Given the description of an element on the screen output the (x, y) to click on. 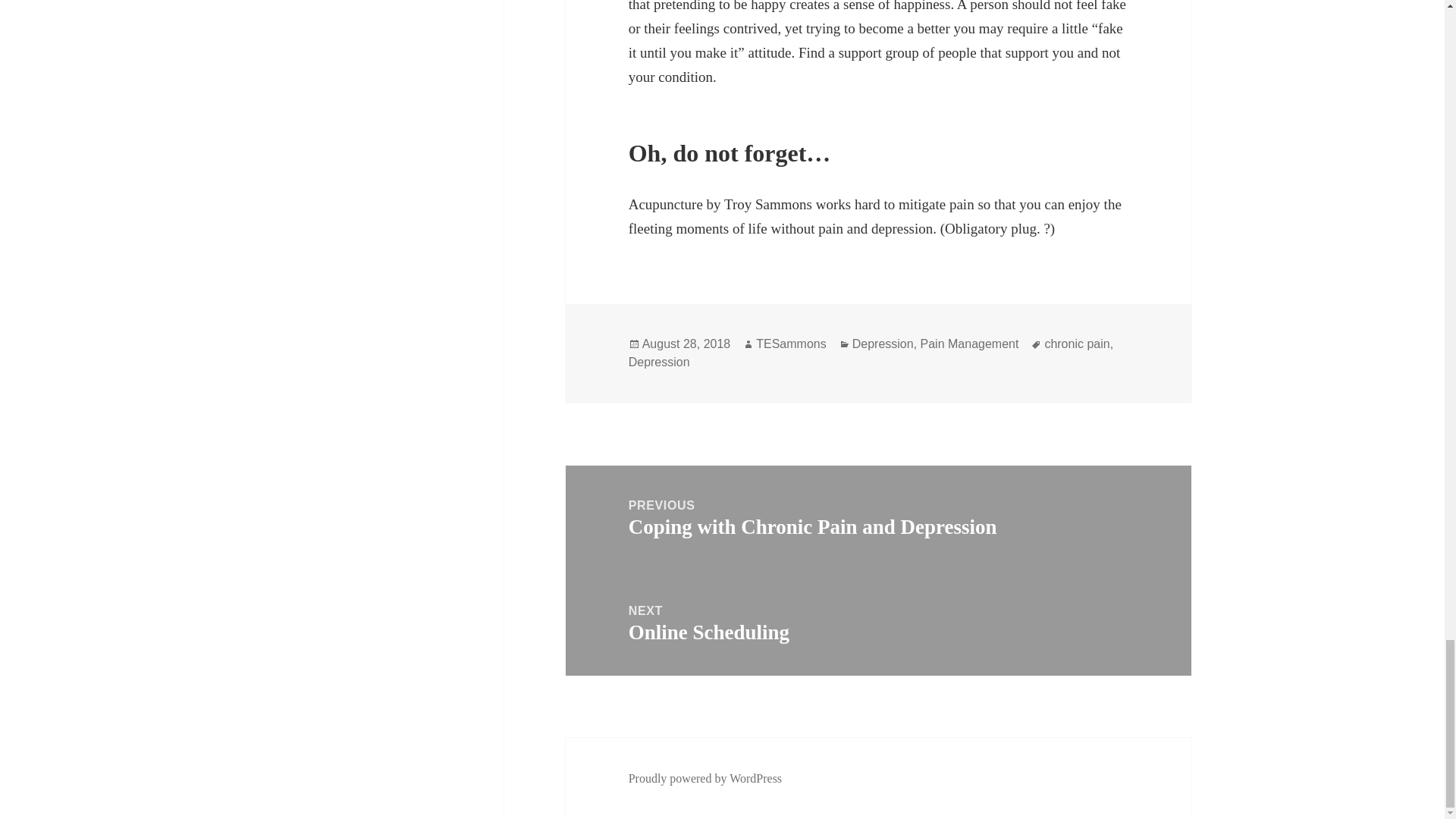
chronic pain (1076, 344)
Depression (882, 344)
Pain Management (969, 344)
August 28, 2018 (686, 344)
TESammons (790, 344)
